Given the description of an element on the screen output the (x, y) to click on. 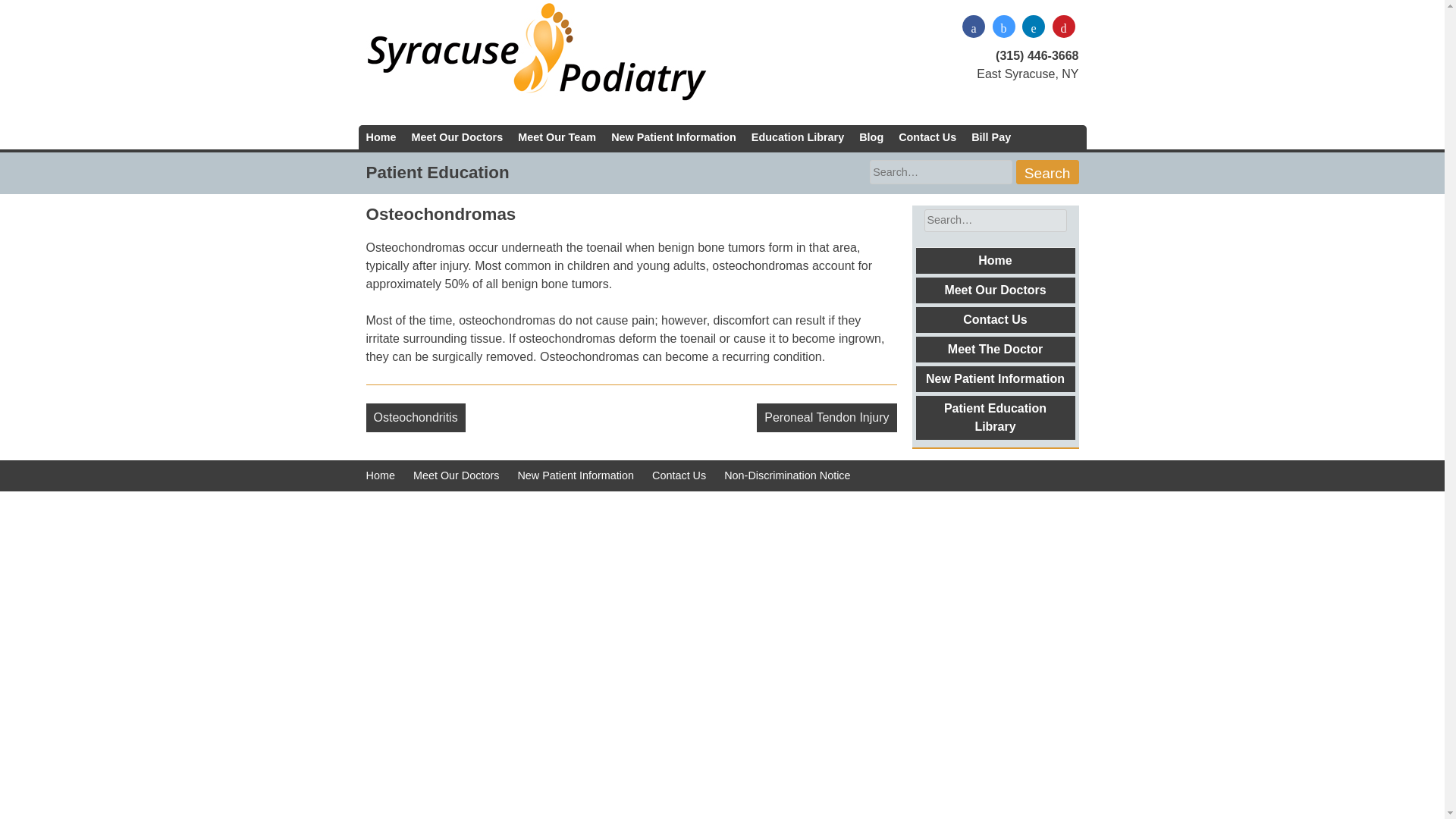
Osteochondritis (414, 417)
Contact Us (927, 137)
Education Library (797, 137)
Meet Our Team (557, 137)
Home (380, 137)
Meet Our Doctors (995, 290)
Meet Our Doctors (456, 475)
Search (1047, 171)
Meet The Doctor (995, 349)
Search (38, 15)
Meet Our Doctors (457, 137)
New Patient Information (574, 475)
Non-Discrimination Notice (786, 475)
Contact Us (995, 319)
Search for (940, 171)
